Given the description of an element on the screen output the (x, y) to click on. 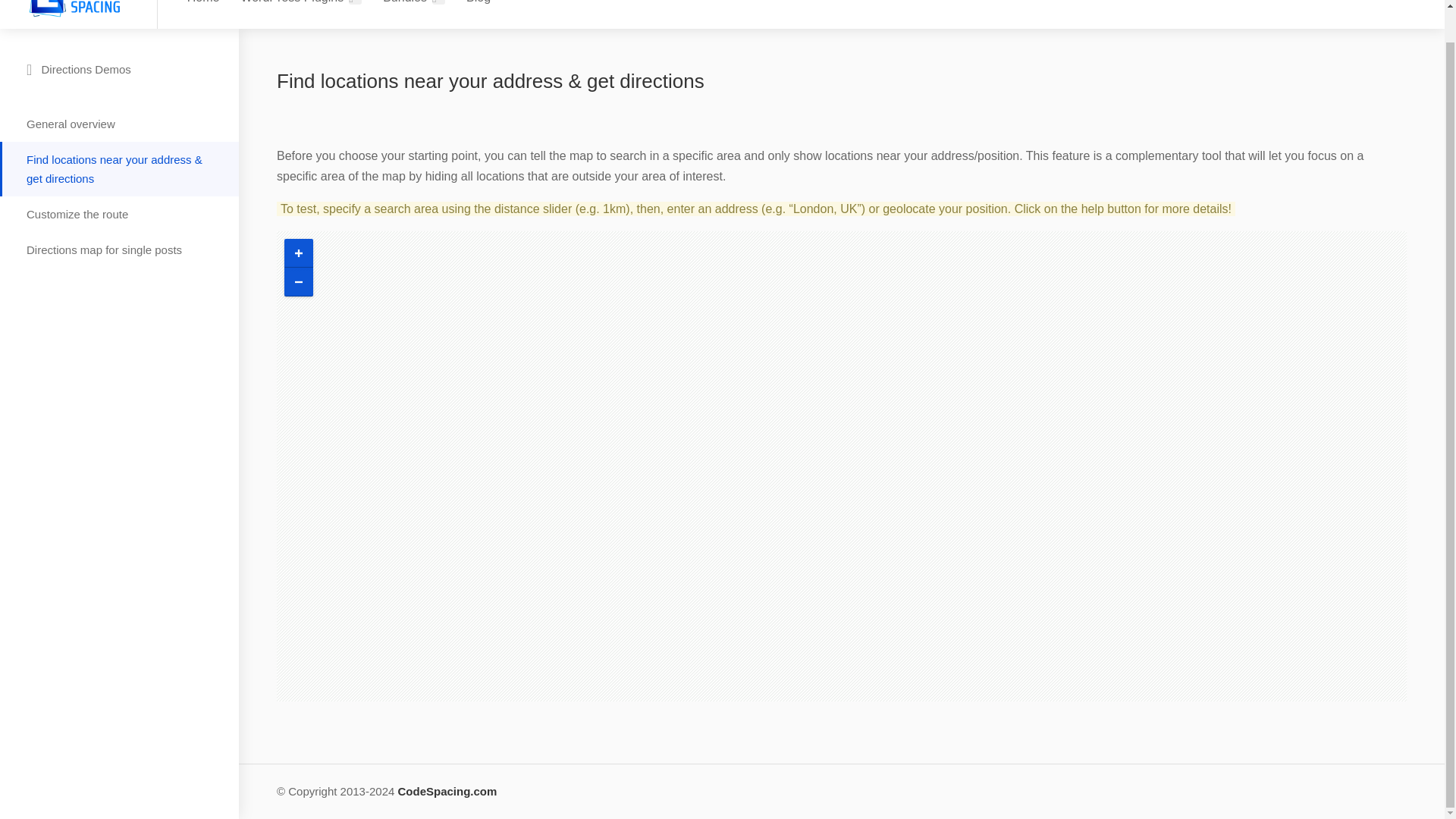
WordPress Plugins (300, 5)
General overview (120, 123)
Customize the route (120, 213)
Home (203, 5)
Zoom out (298, 281)
Directions map for single posts (120, 249)
Zoom in (298, 253)
